Given the description of an element on the screen output the (x, y) to click on. 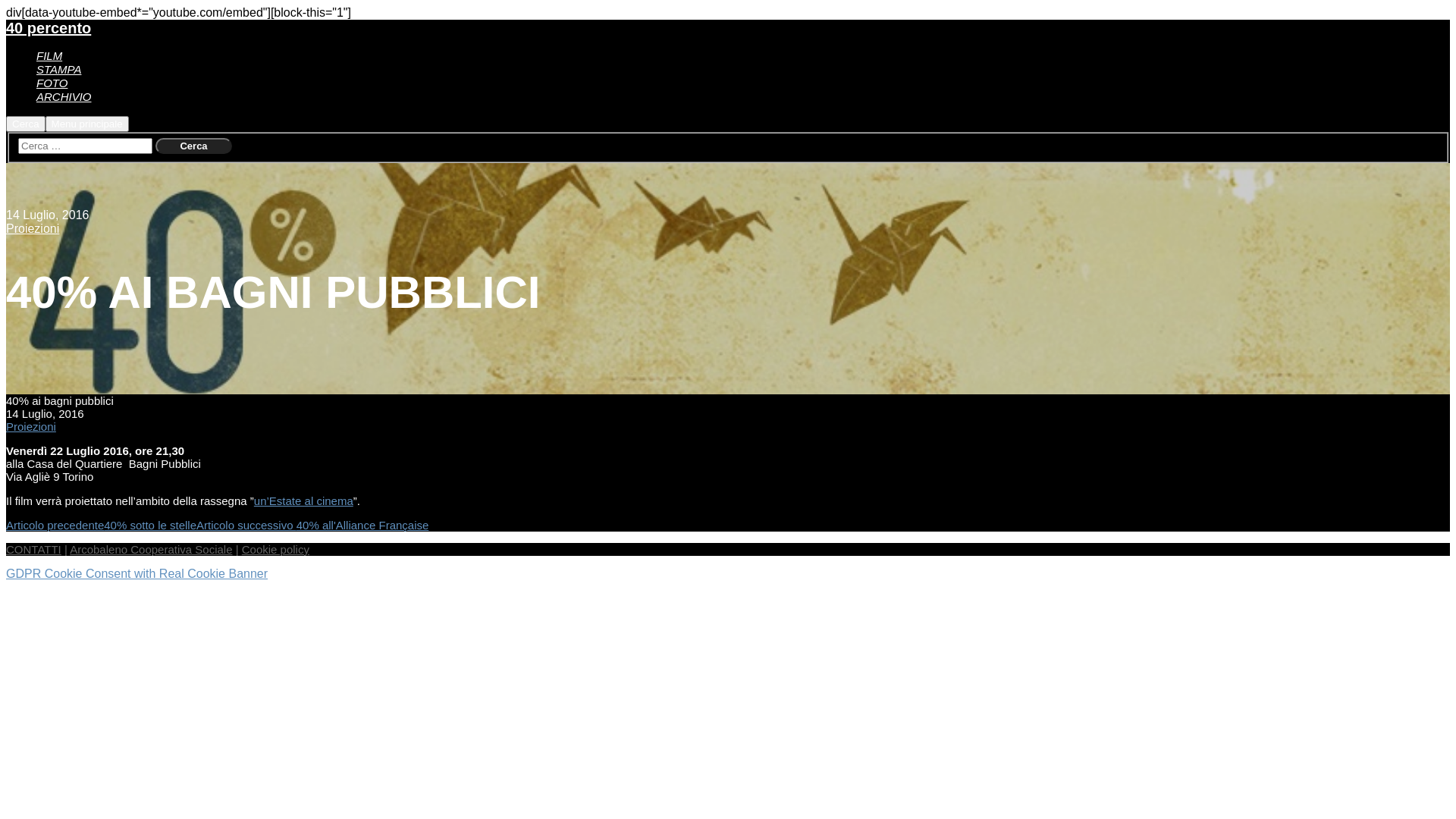
Articolo precedente40% sotto le stelle Element type: text (101, 524)
Cookie policy Element type: text (275, 548)
ARCHIVIO Element type: text (63, 96)
40 percento Element type: text (48, 27)
Cerca Element type: text (25, 123)
Proiezioni Element type: text (32, 228)
FOTO Element type: text (51, 83)
Arcobaleno Cooperativa Sociale Element type: text (150, 548)
Menu principale Element type: text (86, 123)
FILM Element type: text (49, 55)
Proiezioni Element type: text (31, 426)
Cerca Element type: hover (193, 145)
Cerca Element type: text (193, 145)
CONTATTI Element type: text (33, 548)
GDPR Cookie Consent with Real Cookie Banner Element type: text (136, 573)
STAMPA Element type: text (58, 69)
